Given the description of an element on the screen output the (x, y) to click on. 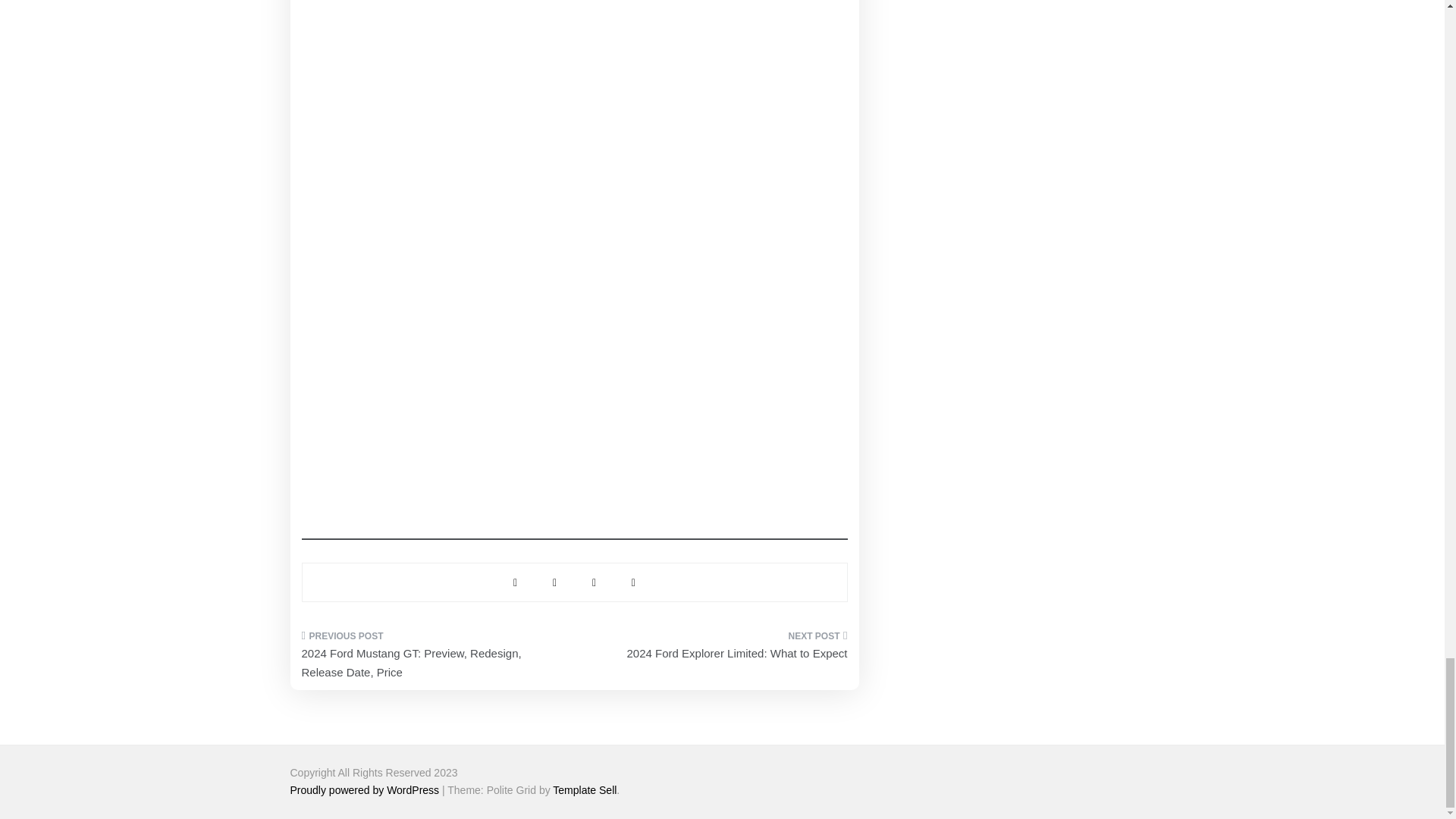
2024 Ford Explorer Limited: What to Expect (716, 649)
2024 Ford Mustang GT: Preview, Redesign, Release Date, Price (432, 658)
